Given the description of an element on the screen output the (x, y) to click on. 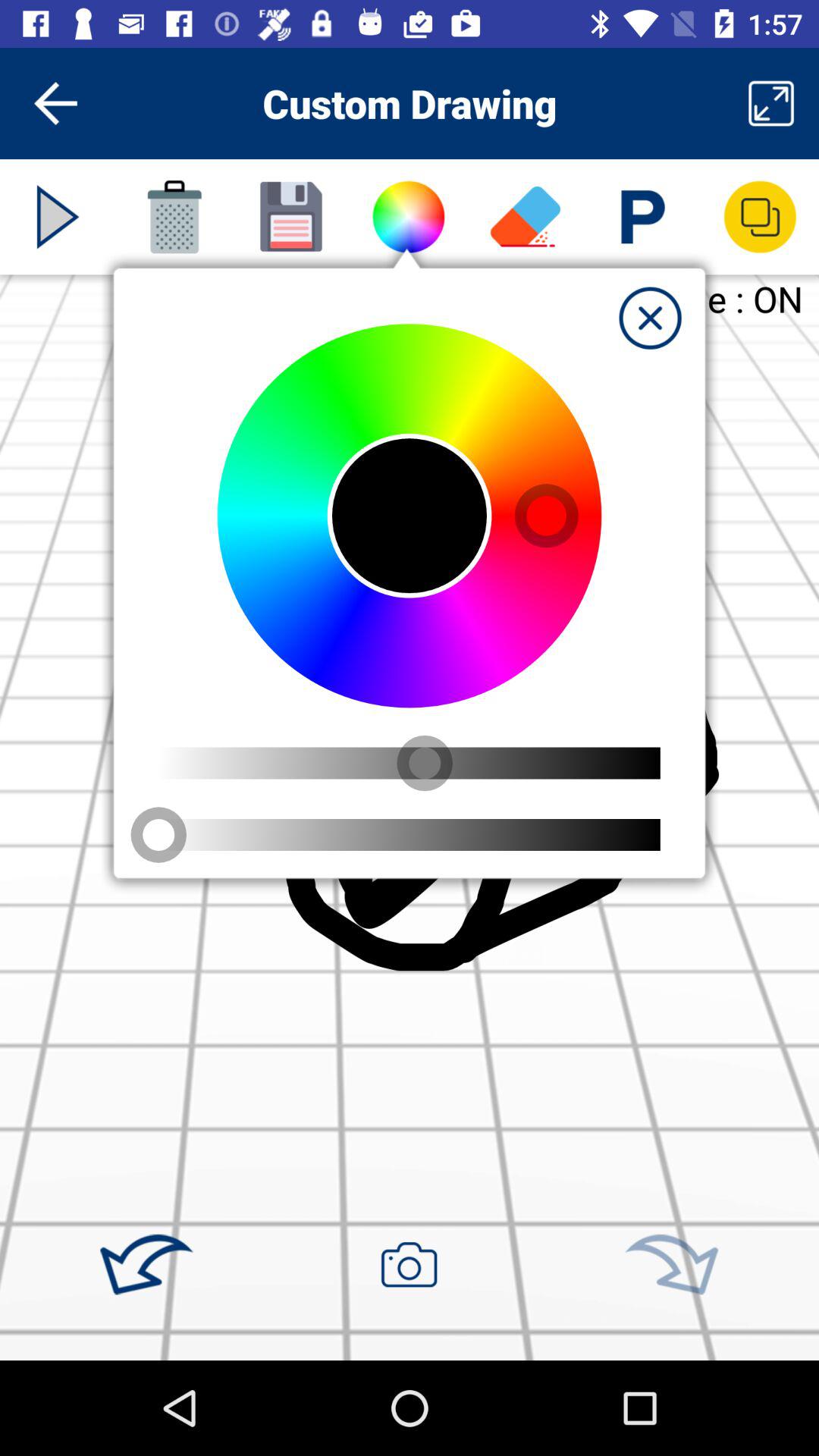
close tab (650, 318)
